Given the description of an element on the screen output the (x, y) to click on. 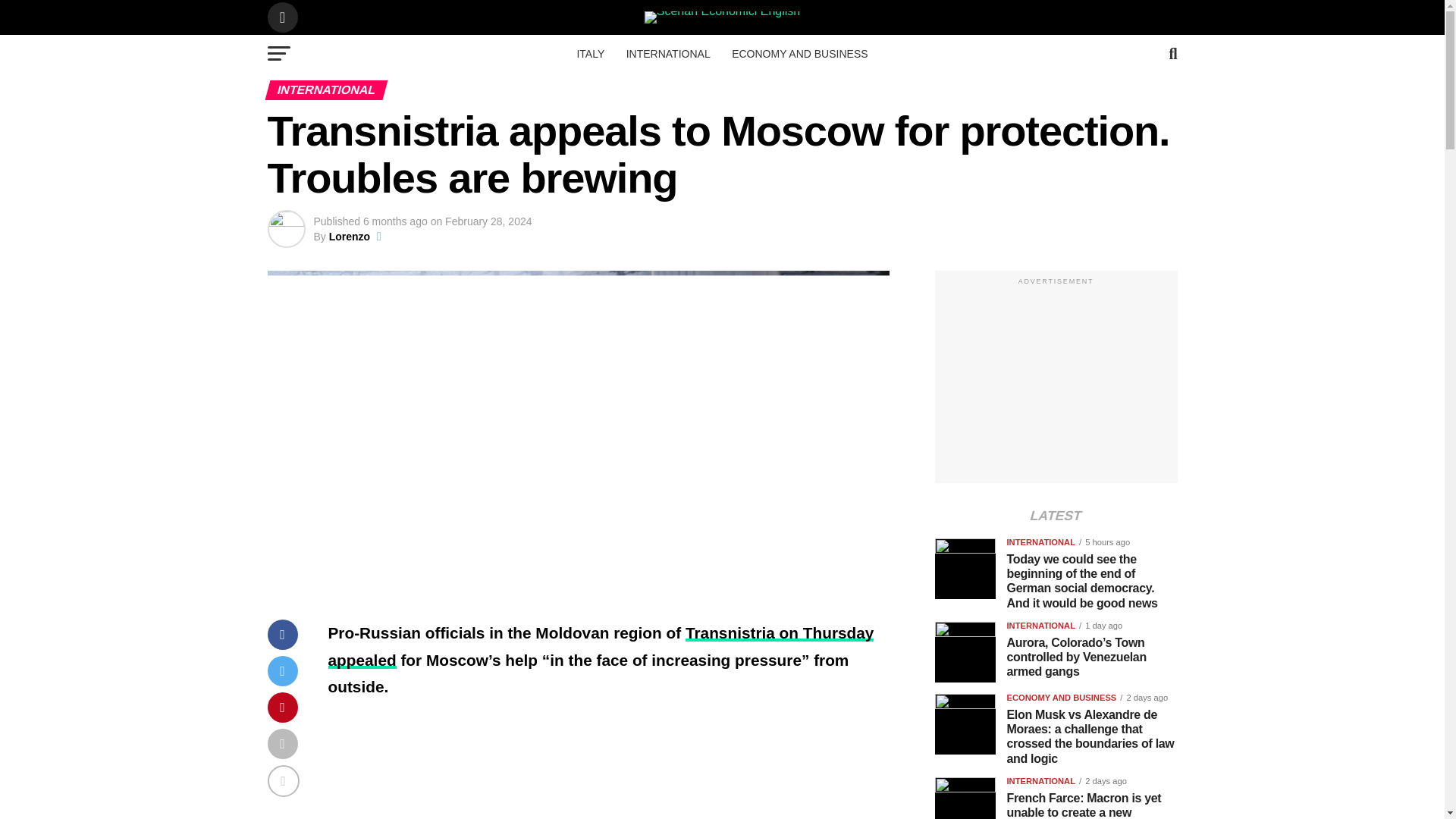
Lorenzo (349, 236)
ITALY (589, 53)
INTERNATIONAL (668, 53)
ECONOMY AND BUSINESS (799, 53)
Posts by Lorenzo (349, 236)
Transnistria on Thursday appealed (600, 646)
